Given the description of an element on the screen output the (x, y) to click on. 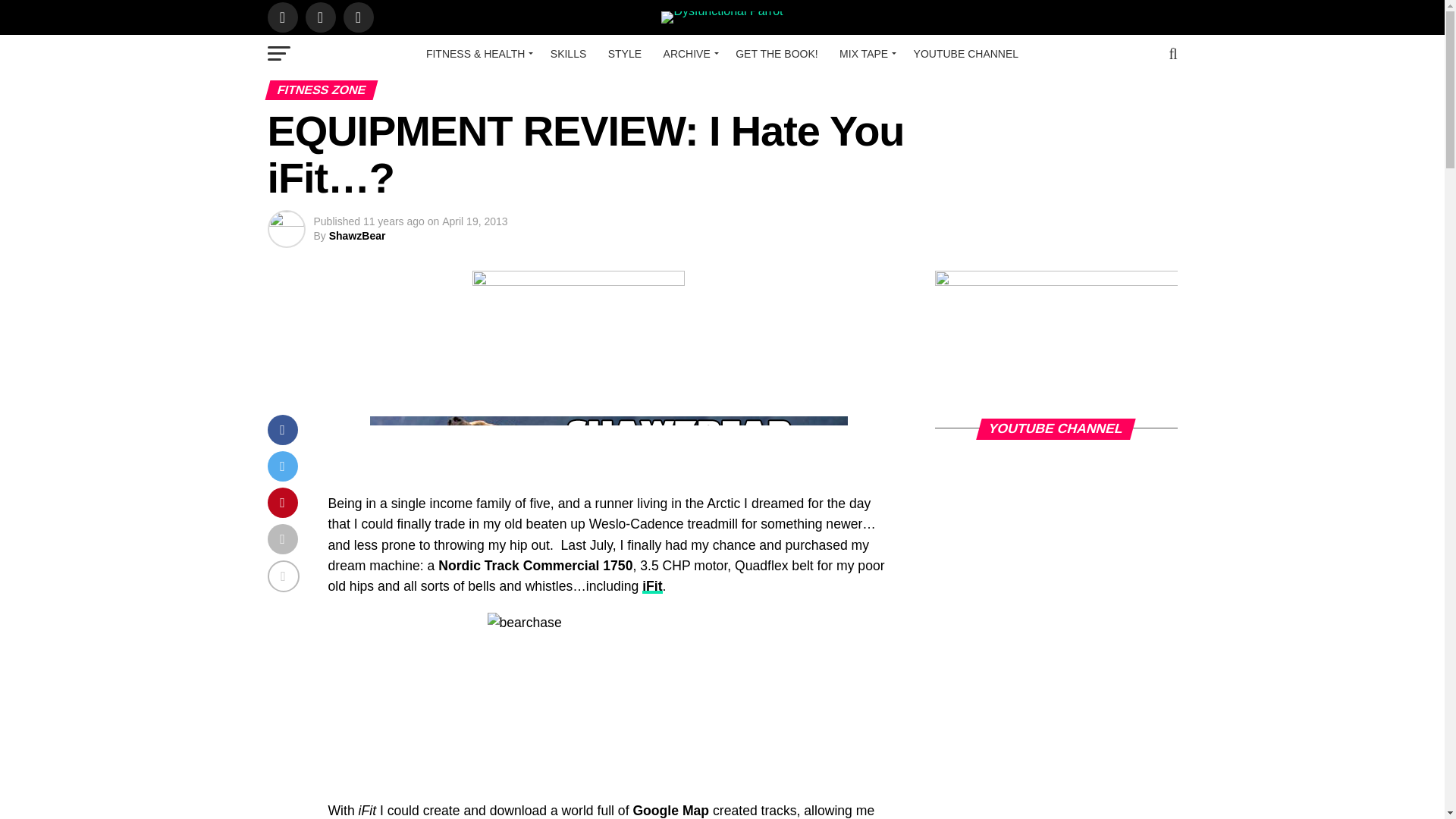
Posts by ShawzBear (357, 235)
